Given the description of an element on the screen output the (x, y) to click on. 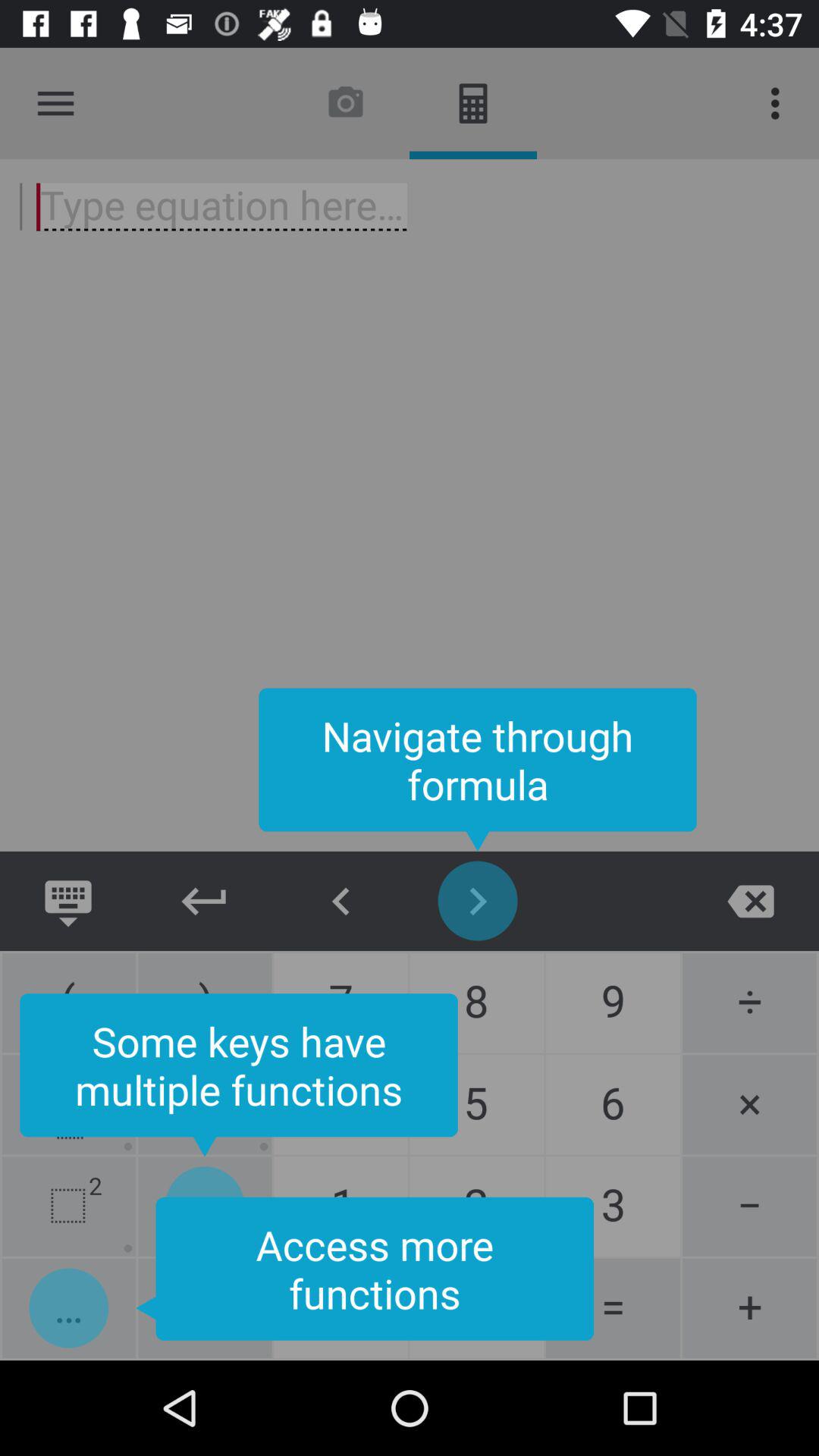
open keyboard (68, 900)
